Given the description of an element on the screen output the (x, y) to click on. 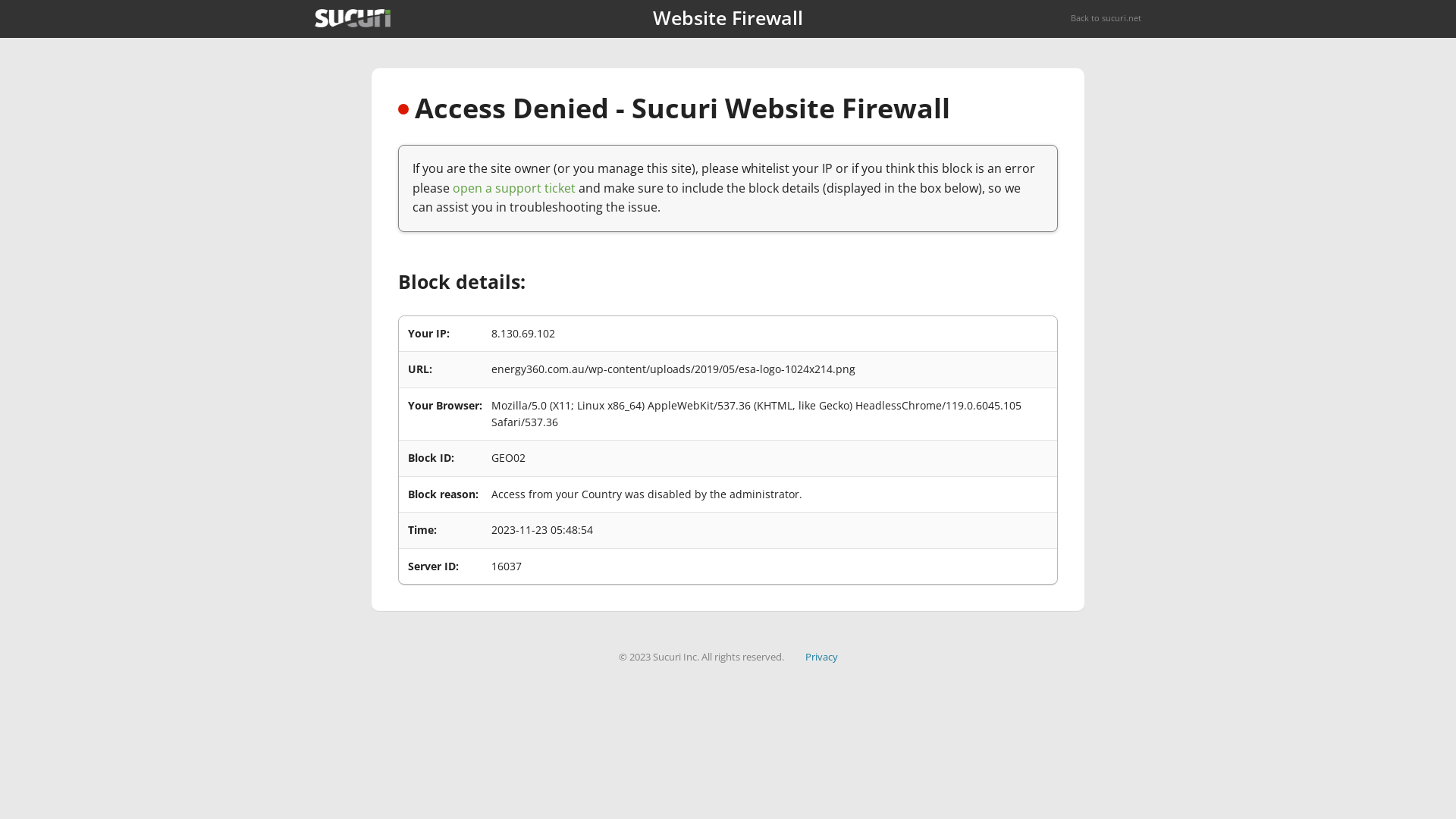
open a support ticket Element type: text (513, 187)
Back to sucuri.net Element type: text (1105, 18)
Privacy Element type: text (821, 656)
